Given the description of an element on the screen output the (x, y) to click on. 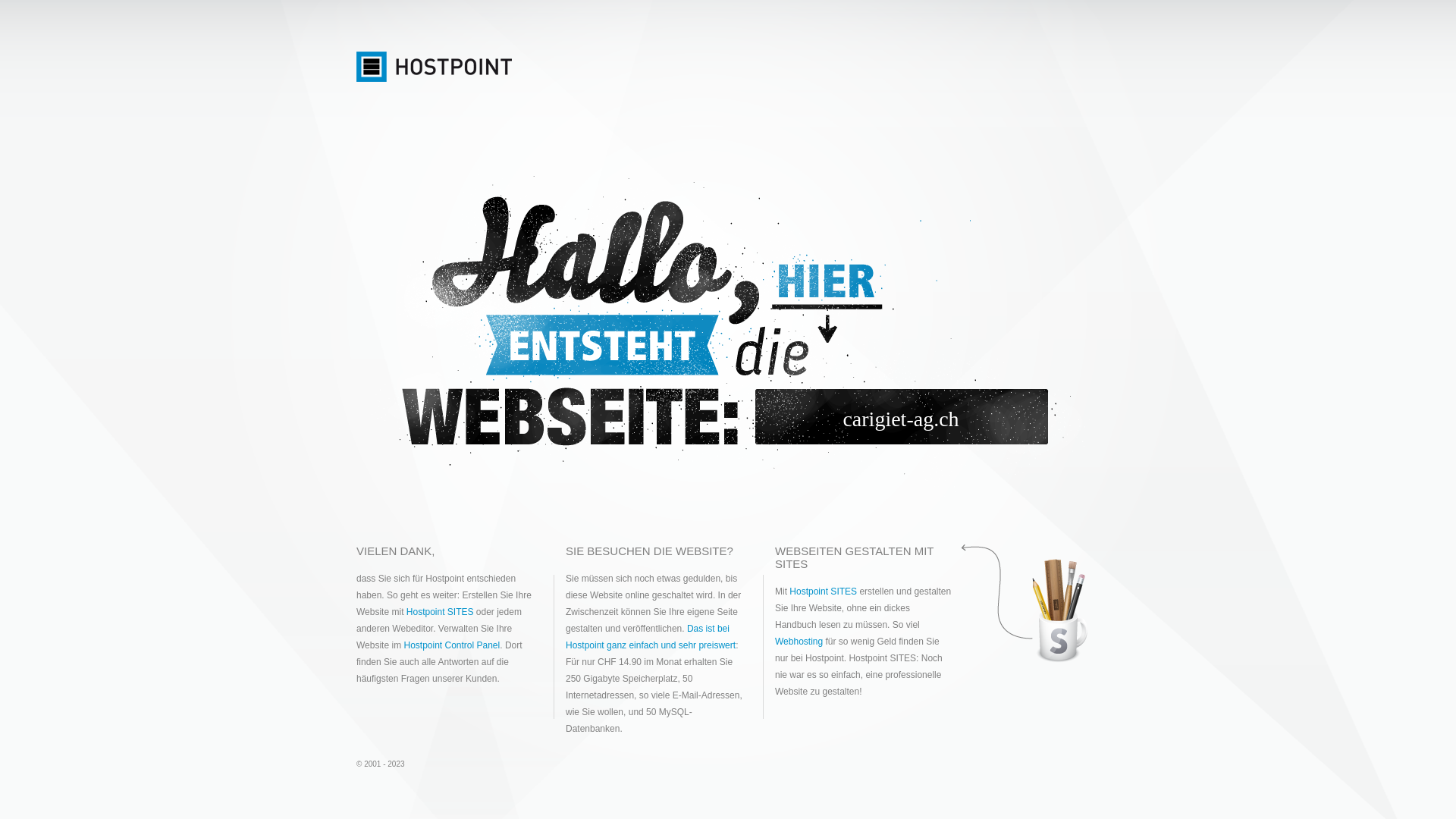
Hostpoint Control Panel Element type: text (451, 645)
Hostpoint SITES Element type: text (822, 591)
Hostpoint SITES Element type: text (439, 611)
Das ist bei Hostpoint ganz einfach und sehr preiswert Element type: text (650, 636)
Webhosting Element type: text (798, 641)
